Given the description of an element on the screen output the (x, y) to click on. 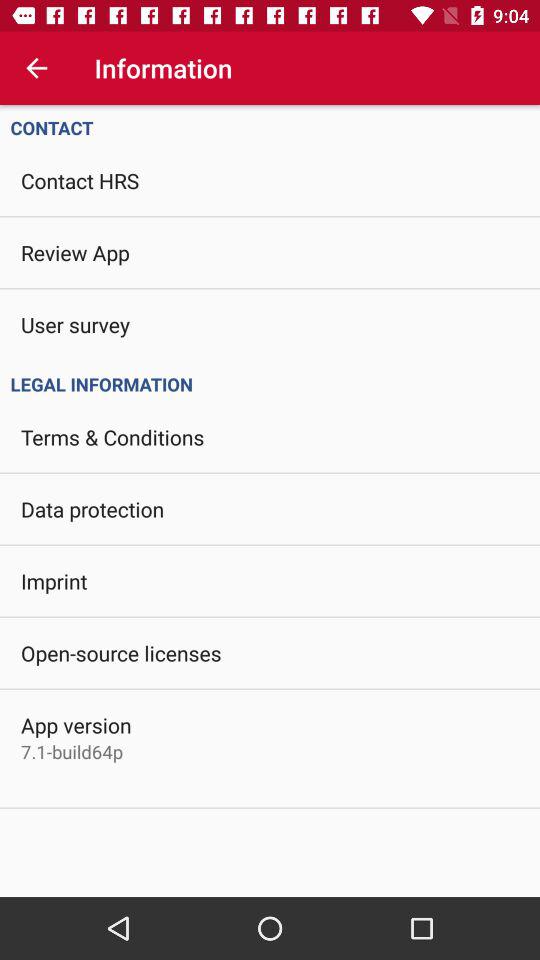
launch item above contact (36, 68)
